Given the description of an element on the screen output the (x, y) to click on. 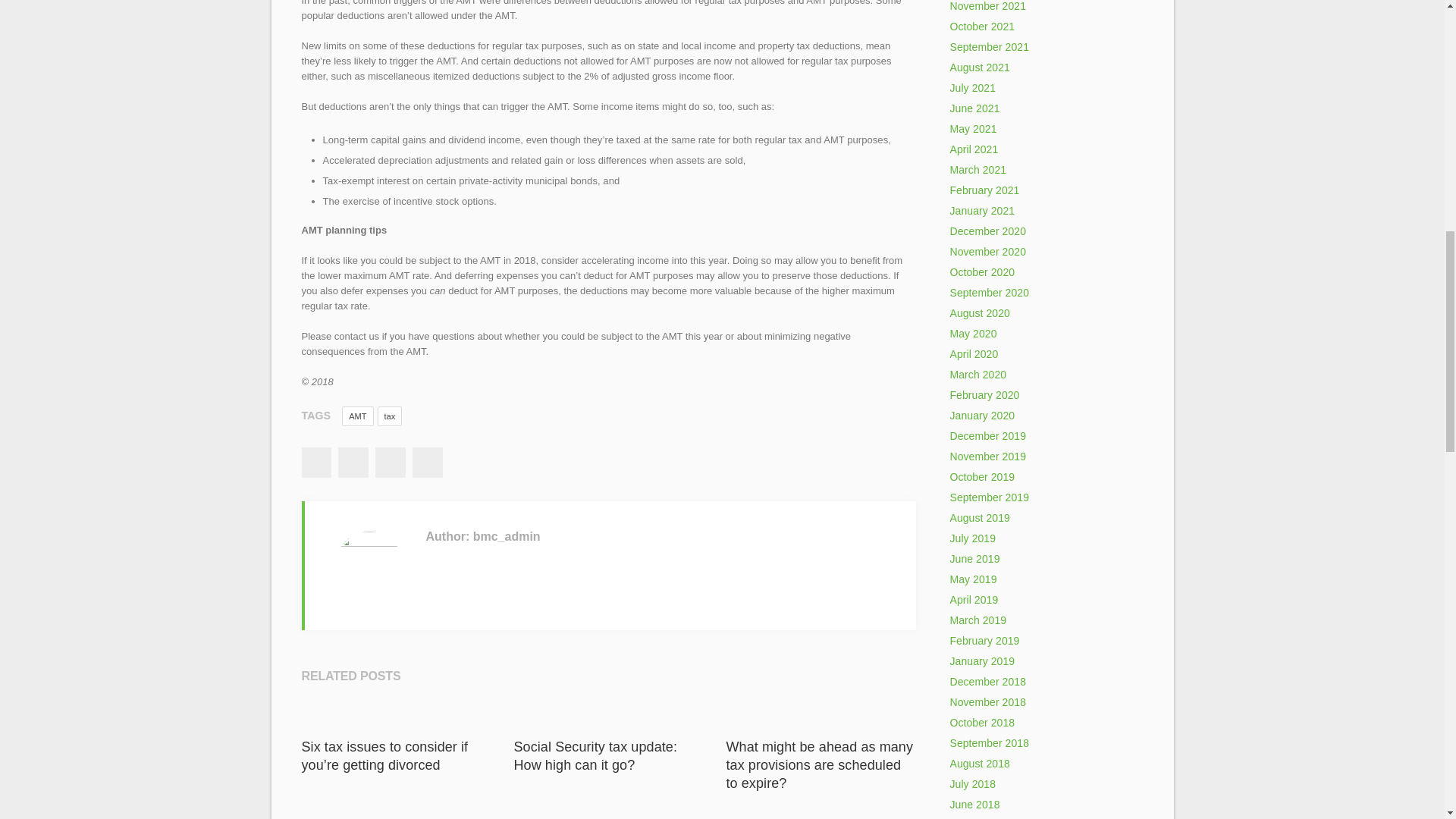
tax (390, 415)
Twitter (352, 462)
Pinterest (427, 462)
Facebook (314, 462)
AMT (357, 415)
